Given the description of an element on the screen output the (x, y) to click on. 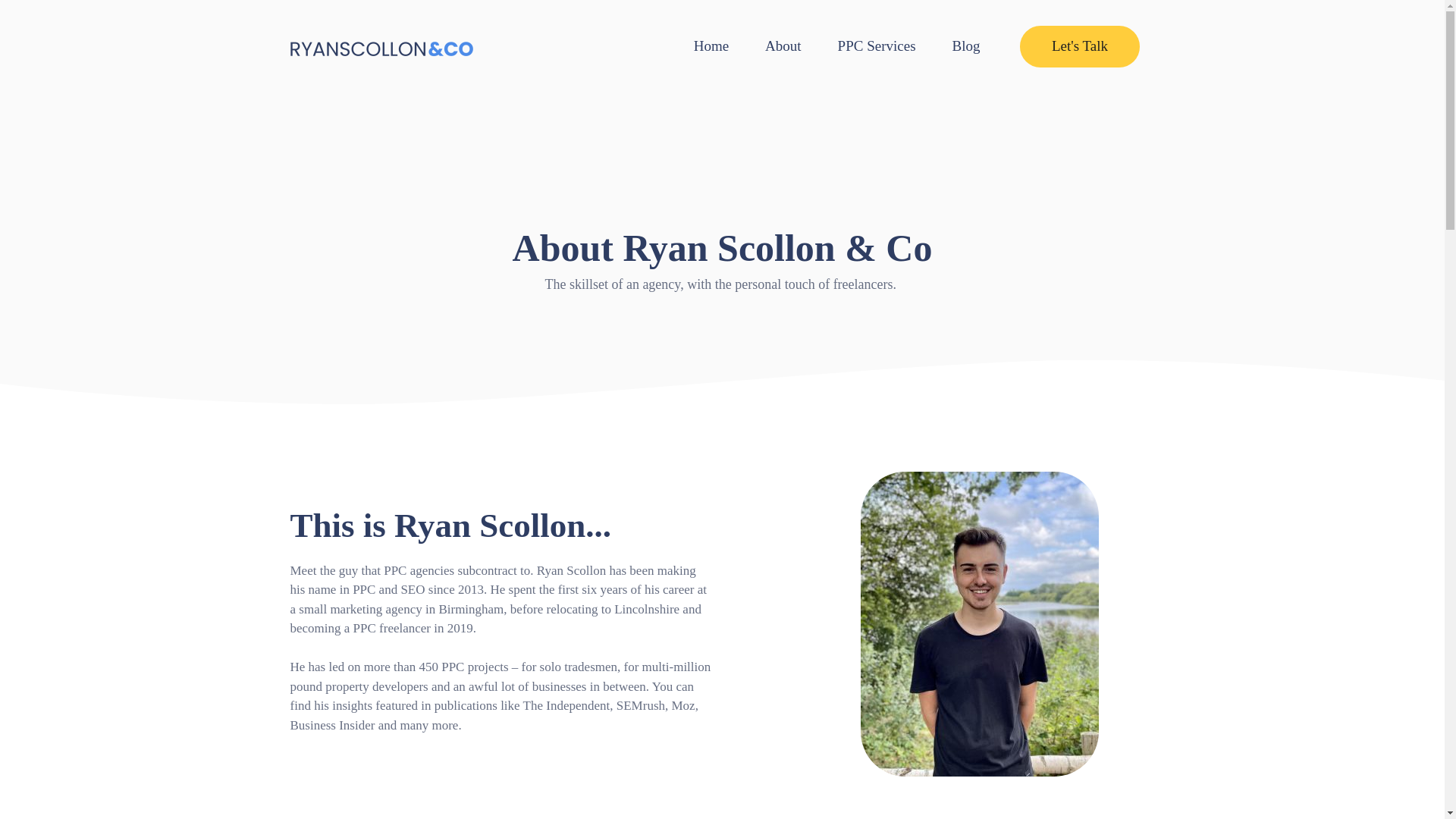
About (785, 45)
PPC Services (880, 45)
Blog (969, 45)
Home (714, 45)
